Given the description of an element on the screen output the (x, y) to click on. 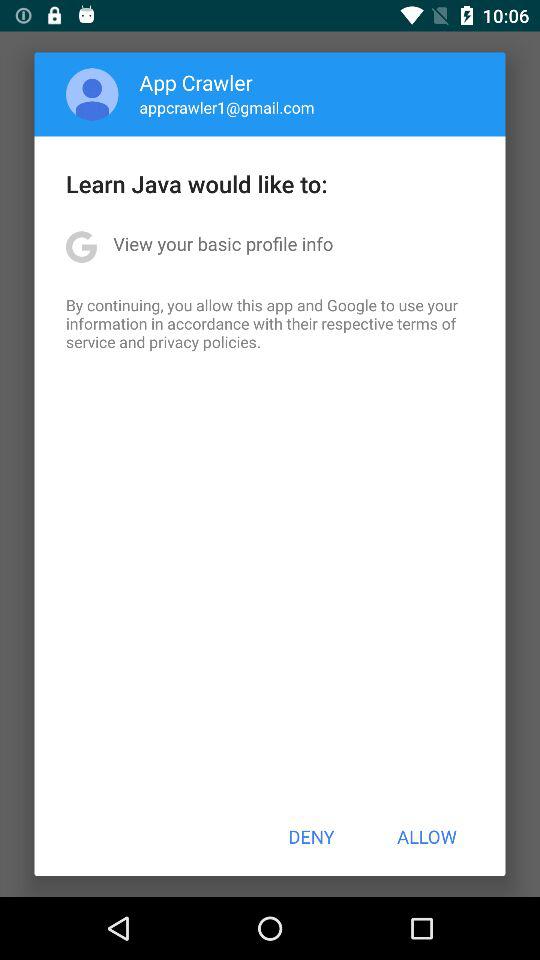
swipe to the view your basic (223, 243)
